Given the description of an element on the screen output the (x, y) to click on. 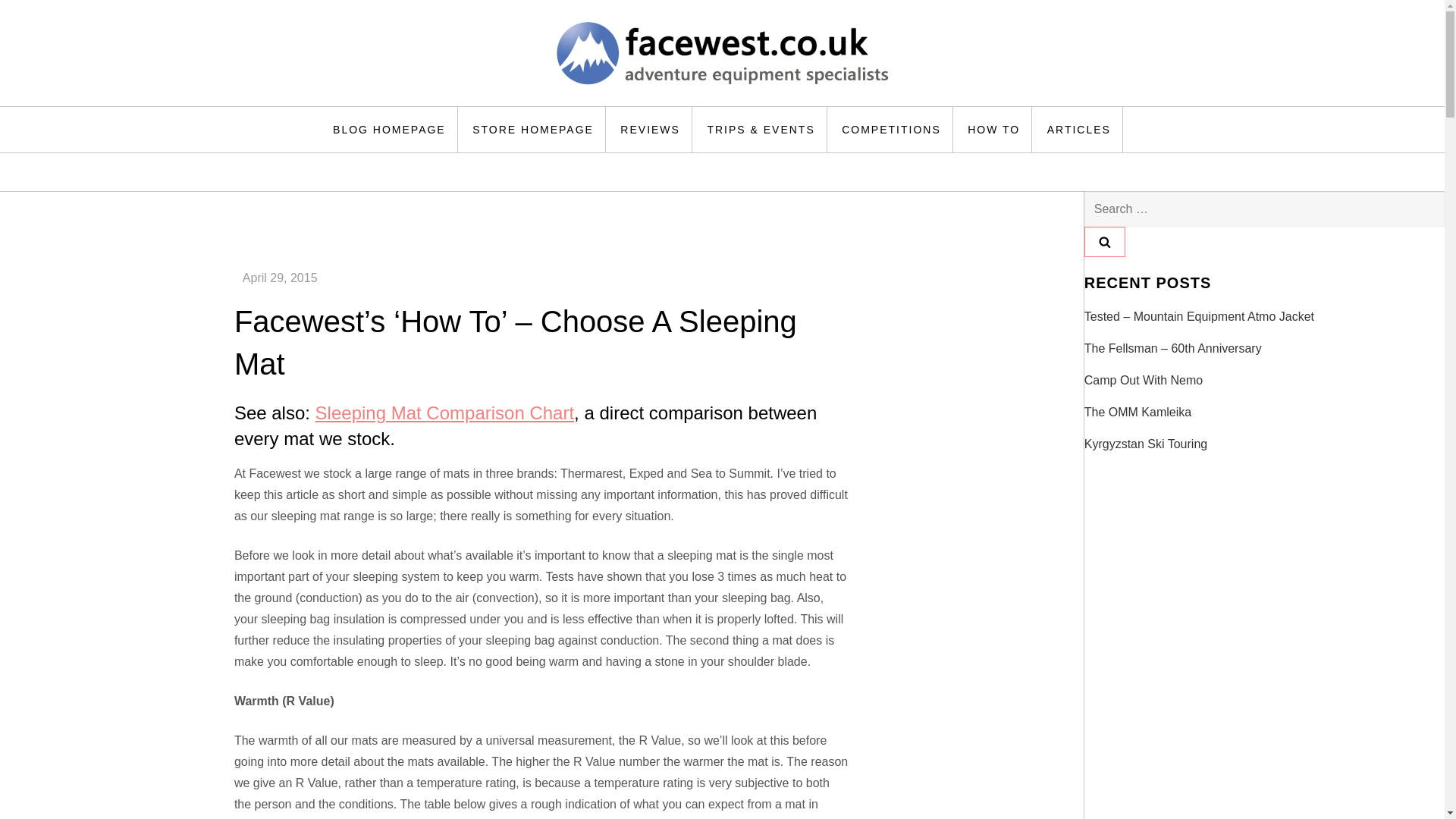
COMPETITIONS (891, 129)
Sleeping Mat Comparison Chart (445, 412)
ARTICLES (1078, 129)
BLOG HOMEPAGE (389, 129)
HOW TO (994, 129)
STORE HOMEPAGE (533, 129)
April 29, 2015 (280, 277)
Facewest.co.uk (361, 105)
REVIEWS (650, 129)
